Given the description of an element on the screen output the (x, y) to click on. 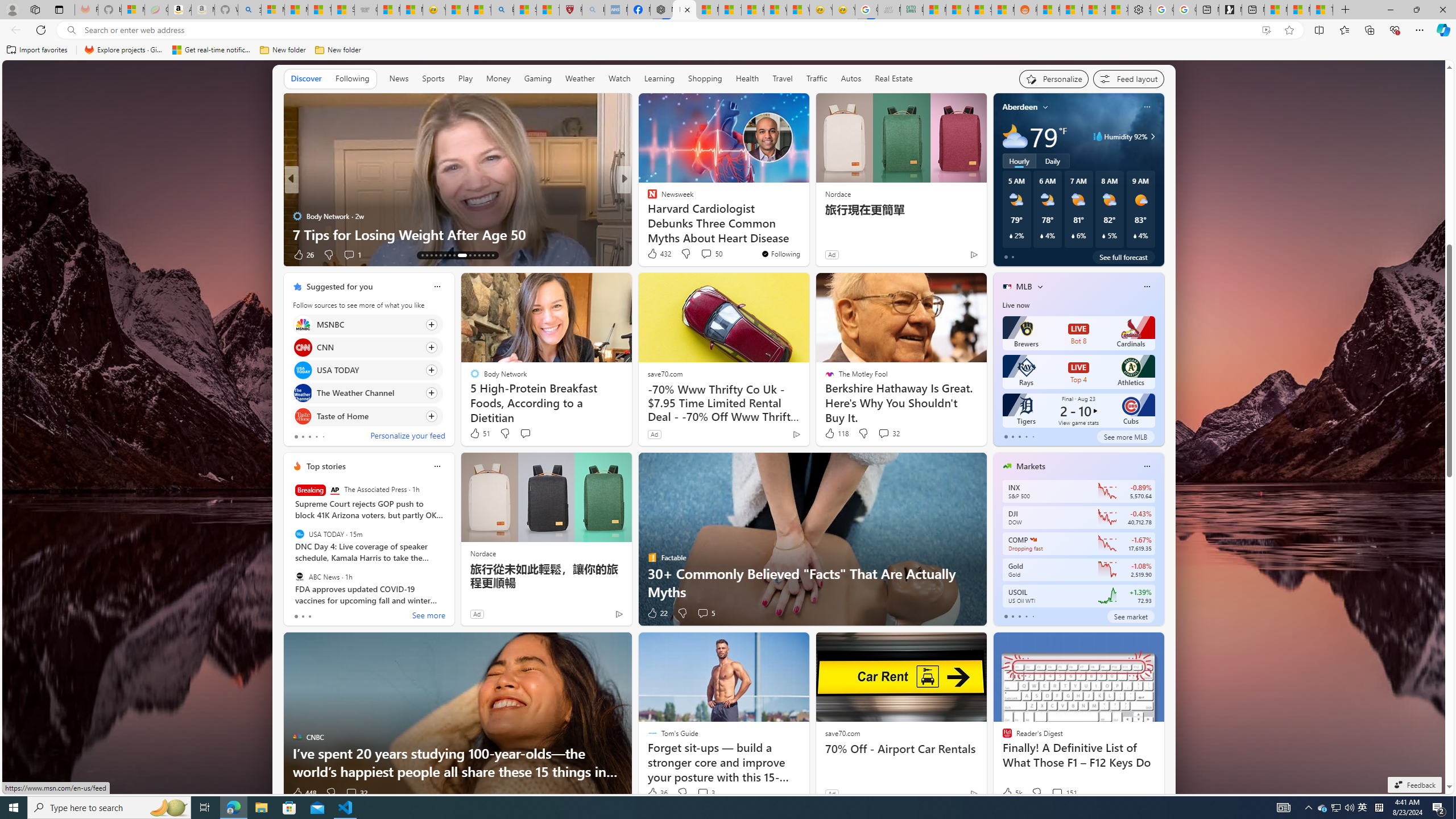
Money (498, 78)
AutomationID: tab-75 (470, 255)
Weather (579, 78)
14 Common Myths Debunked By Scientific Facts (729, 9)
App bar (728, 29)
View comments 1 Comment (349, 254)
MLB (1024, 286)
Play (465, 79)
Nordace (483, 552)
Suggested for you (338, 286)
Autos (850, 79)
